Given the description of an element on the screen output the (x, y) to click on. 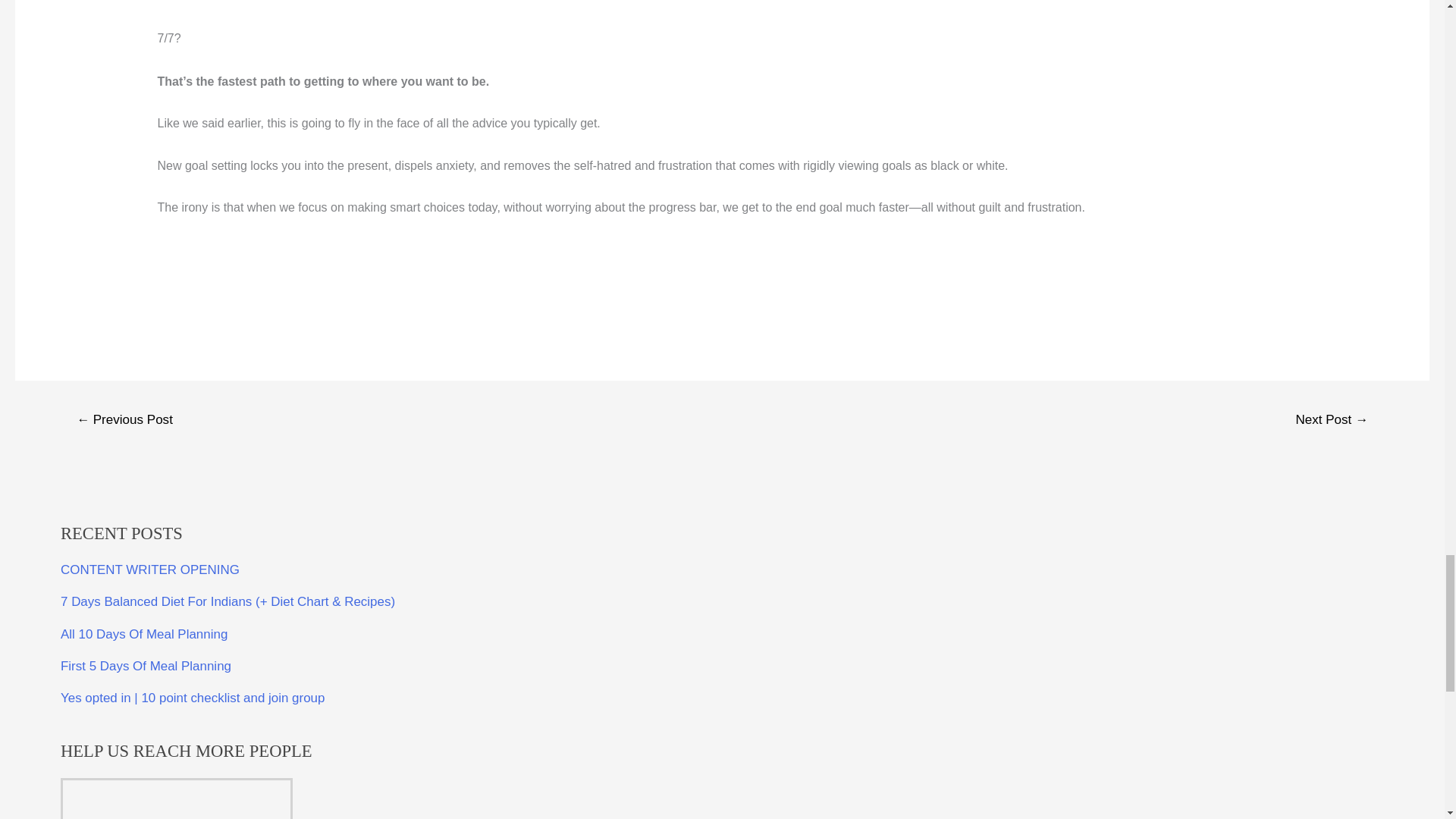
First 5 Days Of Meal Planning (146, 666)
CONTENT WRITER OPENING (150, 569)
All 10 Days Of Meal Planning (144, 634)
